Given the description of an element on the screen output the (x, y) to click on. 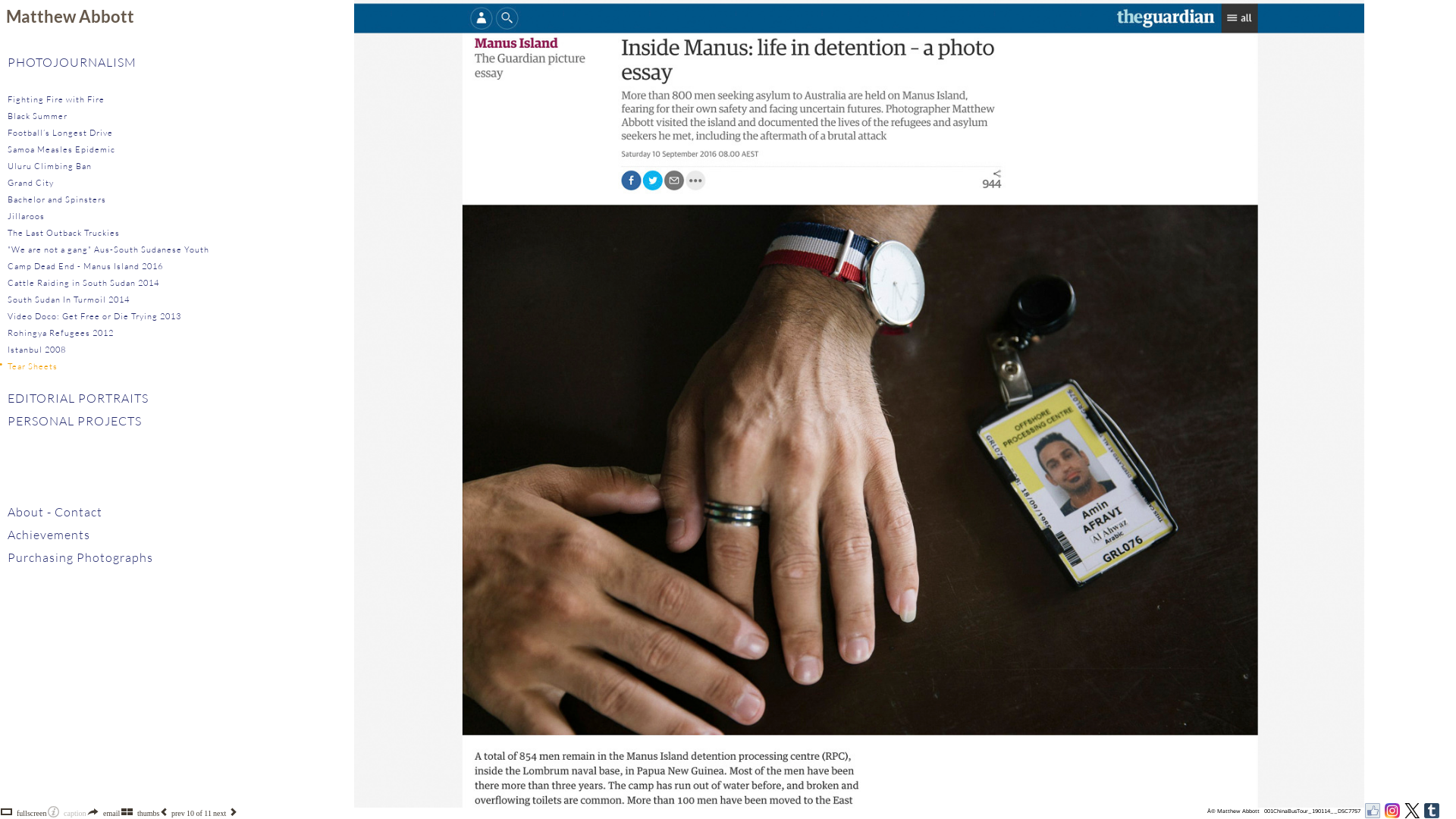
Black Summer Element type: text (37, 115)
Tear Sheets Element type: text (32, 365)
South Sudan In Turmoil 2014 Element type: text (68, 299)
Achievements Element type: text (48, 534)
PHOTOJOURNALISM Element type: text (71, 61)
Video Doco: Get Free or Die Trying 2013 Element type: text (94, 315)
Uluru Climbing Ban Element type: text (49, 165)
Purchasing Photographs Element type: text (80, 556)
Bachelor and Spinsters Element type: text (56, 199)
thumbs Element type: text (148, 812)
EDITORIAL PORTRAITS Element type: text (77, 397)
Istanbul 2008 Element type: text (36, 349)
Grand City Element type: text (30, 182)
prev Element type: text (178, 812)
10 of 11 Element type: text (198, 812)
Camp Dead End - Manus Island 2016 Element type: text (85, 265)
Jillaroos Element type: text (25, 215)
Fighting Fire with Fire Element type: text (55, 99)
Cattle Raiding in South Sudan 2014 Element type: text (83, 282)
Samoa Measles Epidemic Element type: text (61, 149)
Rohingya Refugees 2012 Element type: text (60, 332)
"We are not a gang" Aus-South Sudanese Youth Element type: text (108, 249)
The Last Outback Truckies Element type: text (63, 232)
next Element type: text (219, 812)
caption Element type: text (74, 812)
email Element type: text (111, 812)
PERSONAL PROJECTS Element type: text (74, 420)
fullscreen Element type: text (31, 812)
About - Contact Element type: text (54, 511)
